Given the description of an element on the screen output the (x, y) to click on. 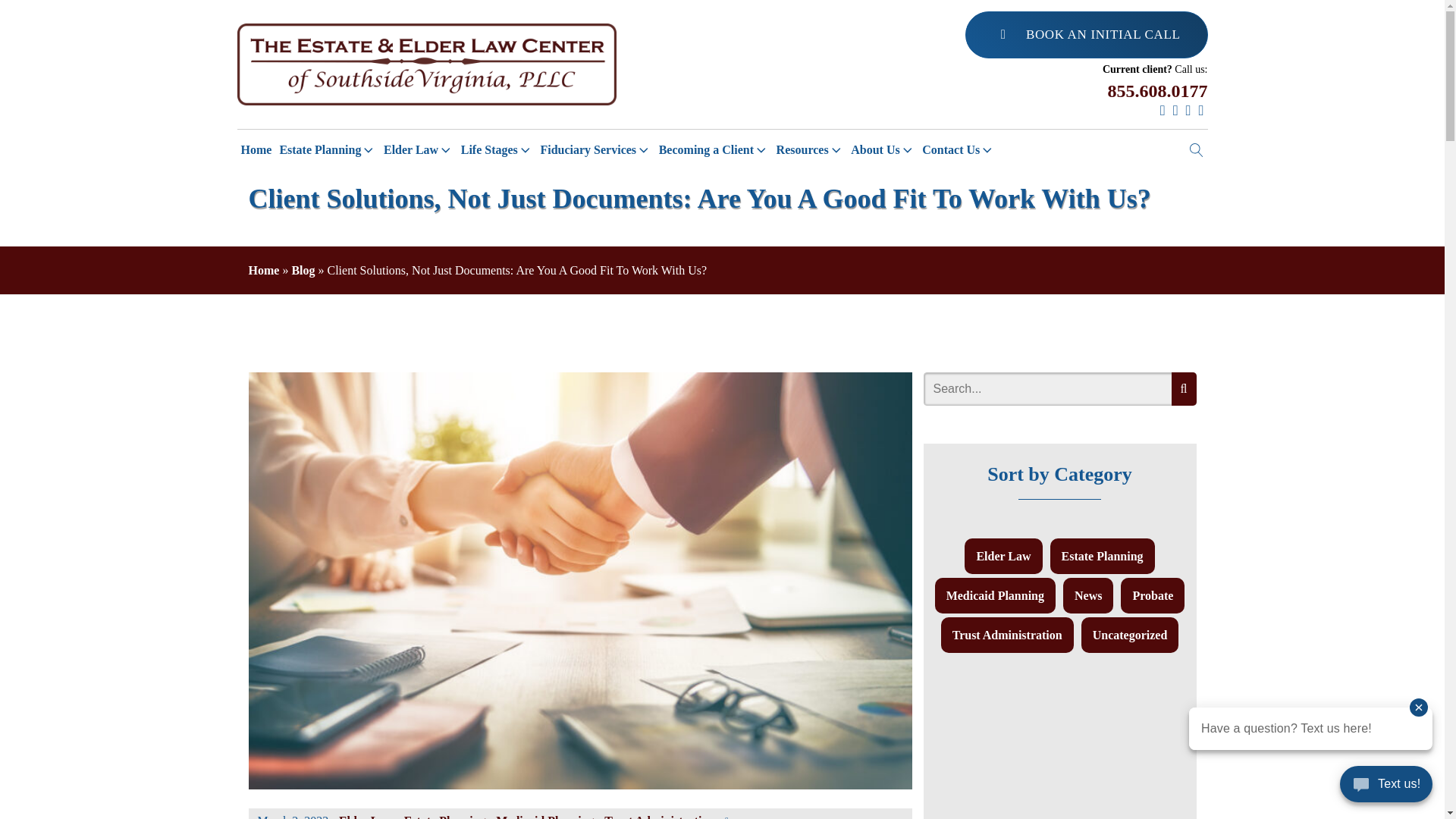
BOOK AN INITIAL CALL (1086, 34)
855.608.0177 (1156, 90)
